Given the description of an element on the screen output the (x, y) to click on. 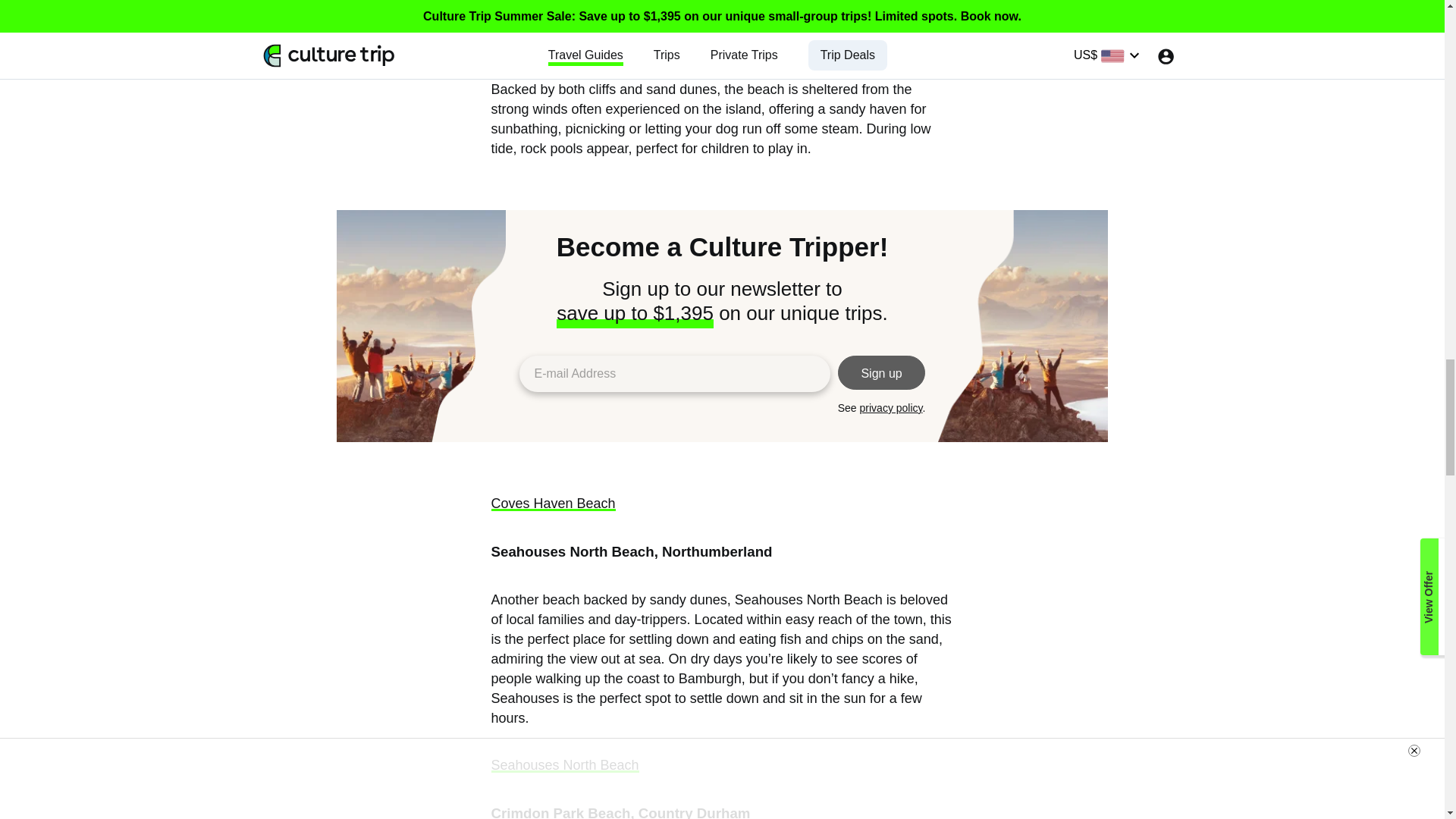
Sign up (882, 372)
Coves Haven Beach (553, 503)
Seahouses North Beach (565, 765)
privacy policy (891, 408)
